Given the description of an element on the screen output the (x, y) to click on. 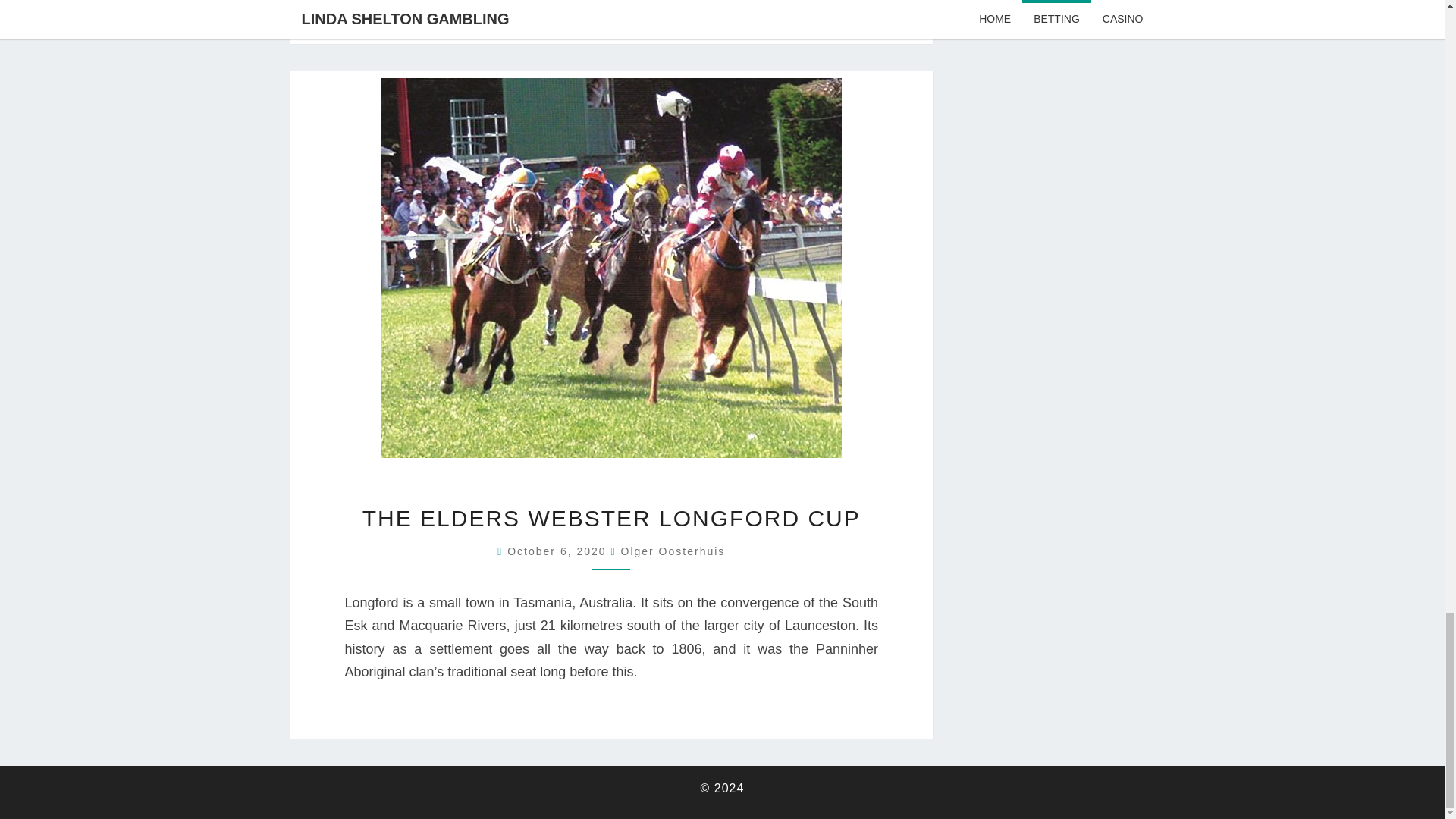
October 6, 2020 (558, 551)
Olger Oosterhuis (672, 551)
THE ELDERS WEBSTER LONGFORD CUP (611, 518)
View all posts by Olger Oosterhuis (672, 551)
6:56 am (558, 551)
